Given the description of an element on the screen output the (x, y) to click on. 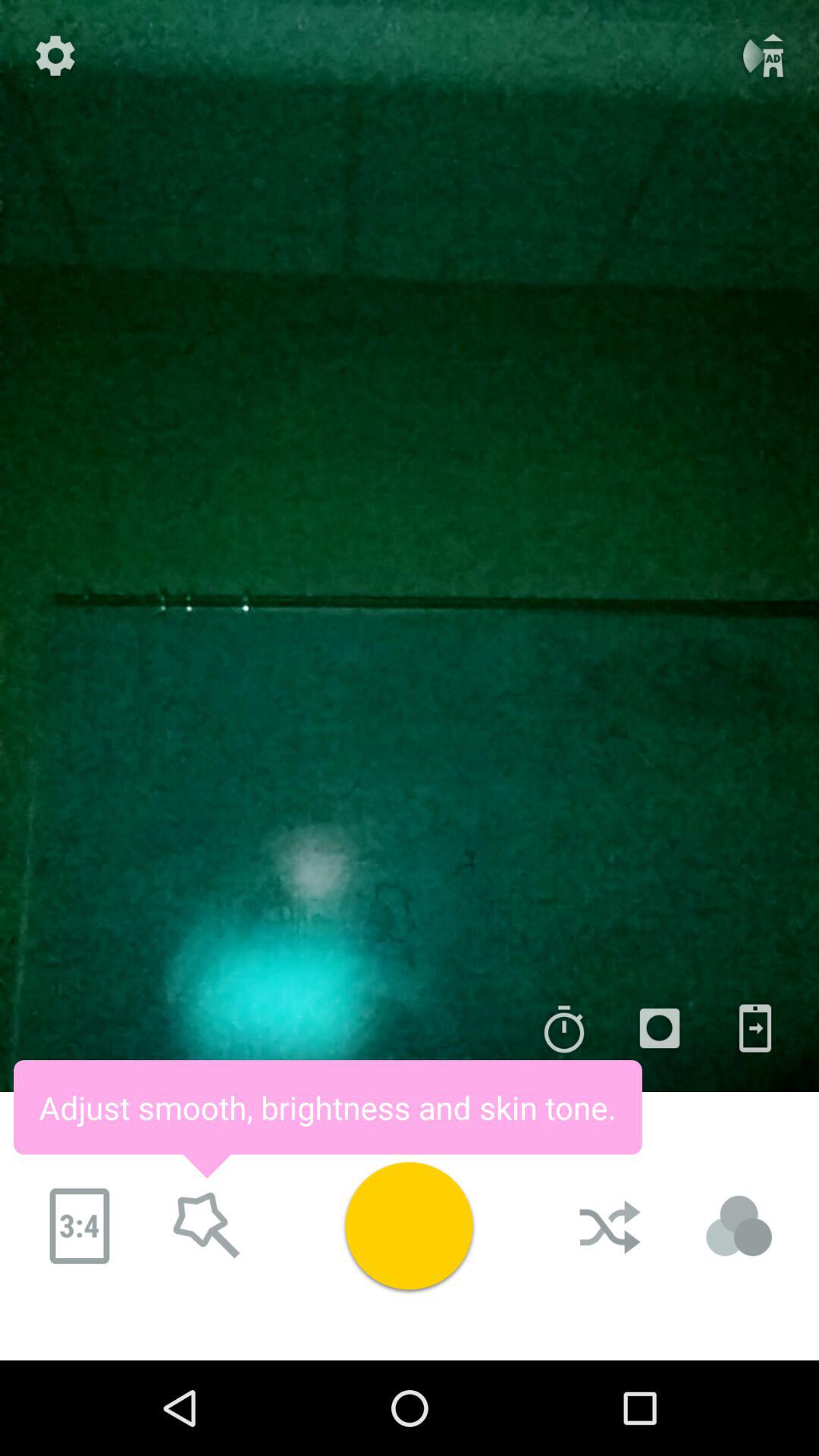
share the image (755, 1028)
